Given the description of an element on the screen output the (x, y) to click on. 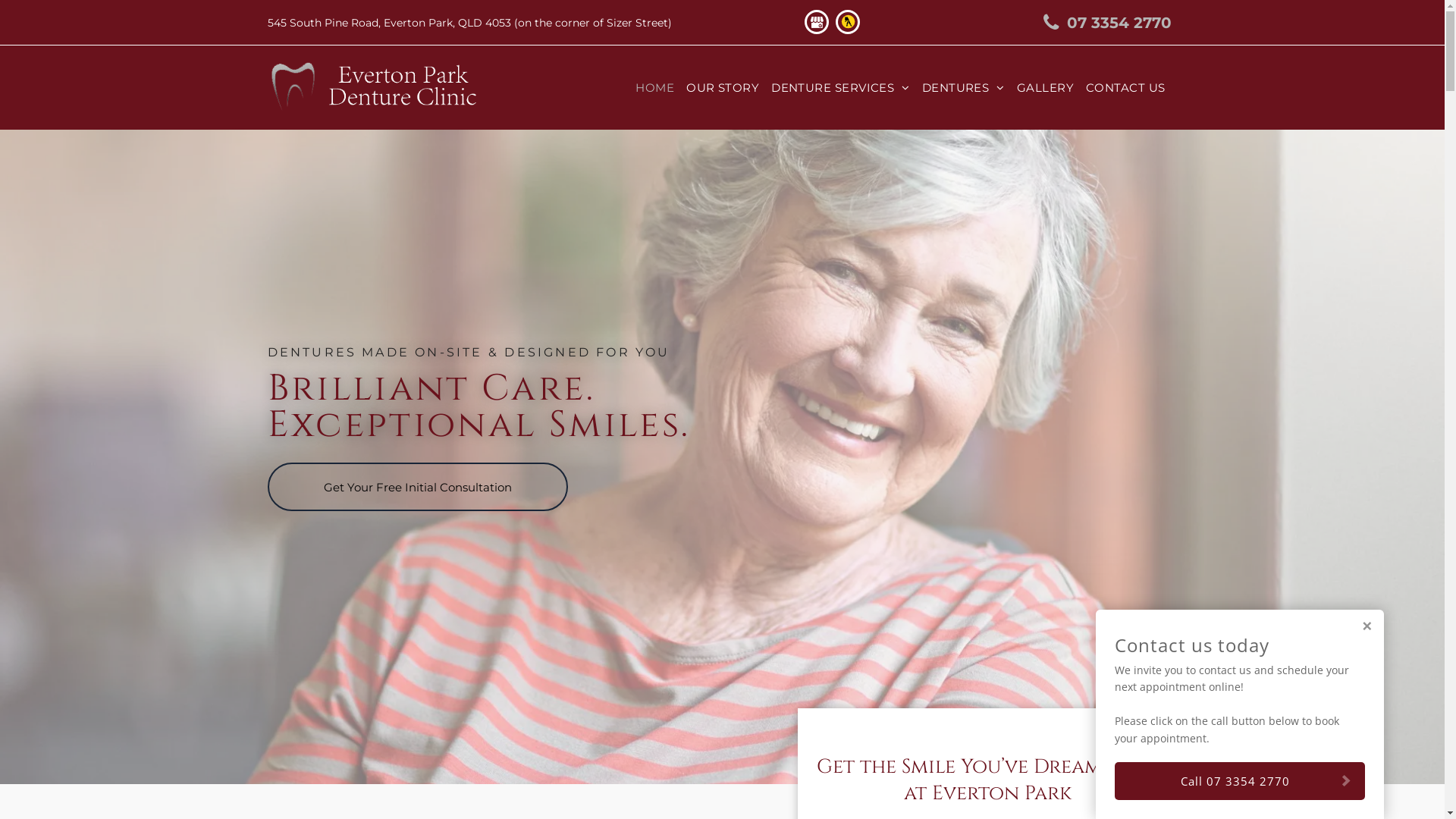
OUR STORY Element type: text (722, 87)
DENTURES Element type: text (963, 87)
DENTURE SERVICES Element type: text (840, 87)
GALLERY Element type: text (1044, 87)
07 3354 2770 Element type: text (1098, 22)
Call 07 3354 2770 Element type: text (1239, 781)
545 South Pine Road, Everton Park, QLD 4053 Element type: text (388, 21)
CONTACT US Element type: text (1125, 87)
Get Your Free Initial Consultation Element type: text (416, 486)
HOME Element type: text (654, 87)
Everton Park Denture Clinic Element type: hover (373, 87)
